Given the description of an element on the screen output the (x, y) to click on. 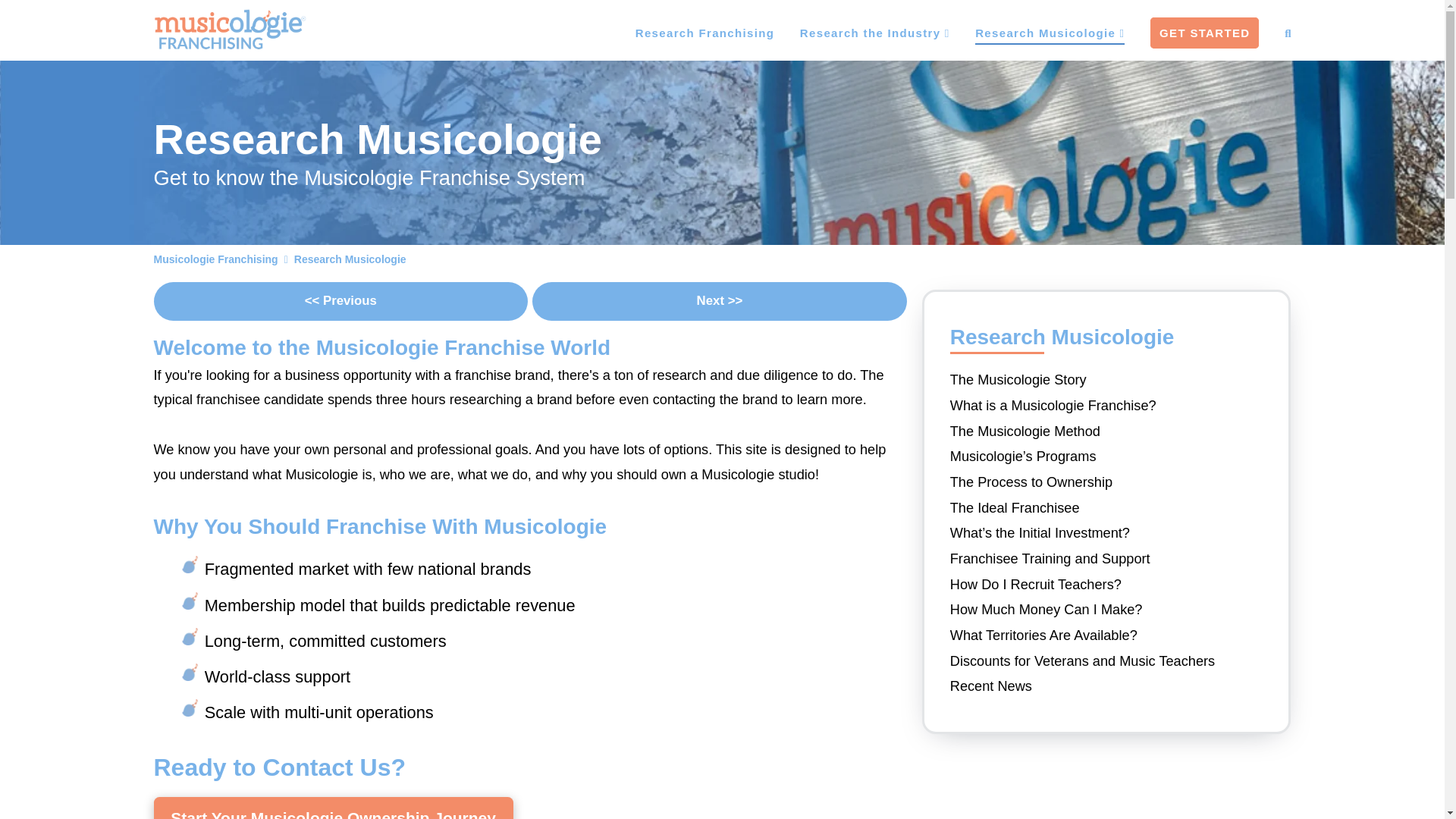
Simply delightful music lessons (229, 29)
You Are Here (350, 259)
GET STARTED (1190, 30)
Research Franchising (690, 30)
Research Musicologie (1036, 30)
Research the Industry (861, 30)
